Given the description of an element on the screen output the (x, y) to click on. 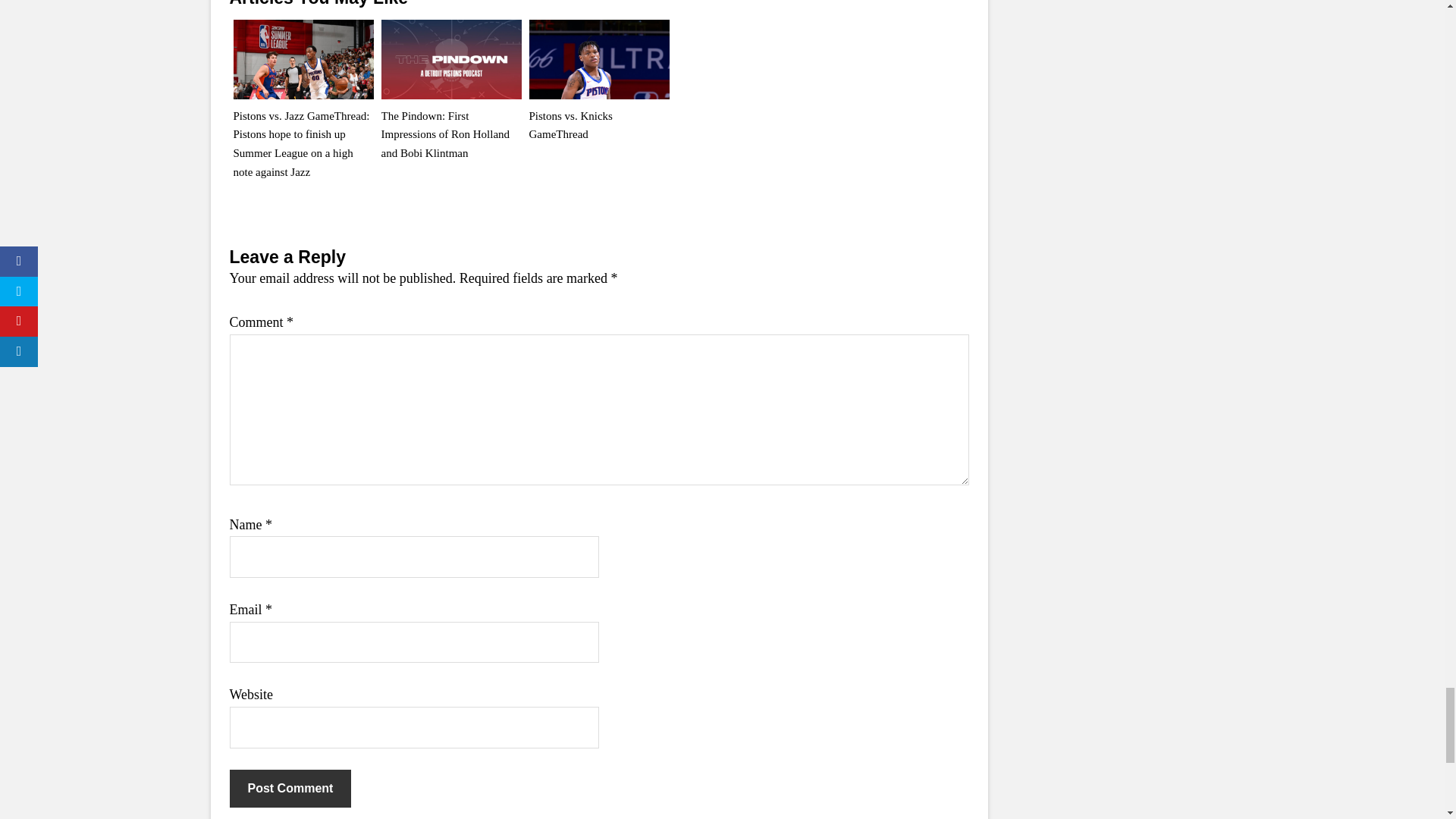
Post Comment (289, 788)
